Given the description of an element on the screen output the (x, y) to click on. 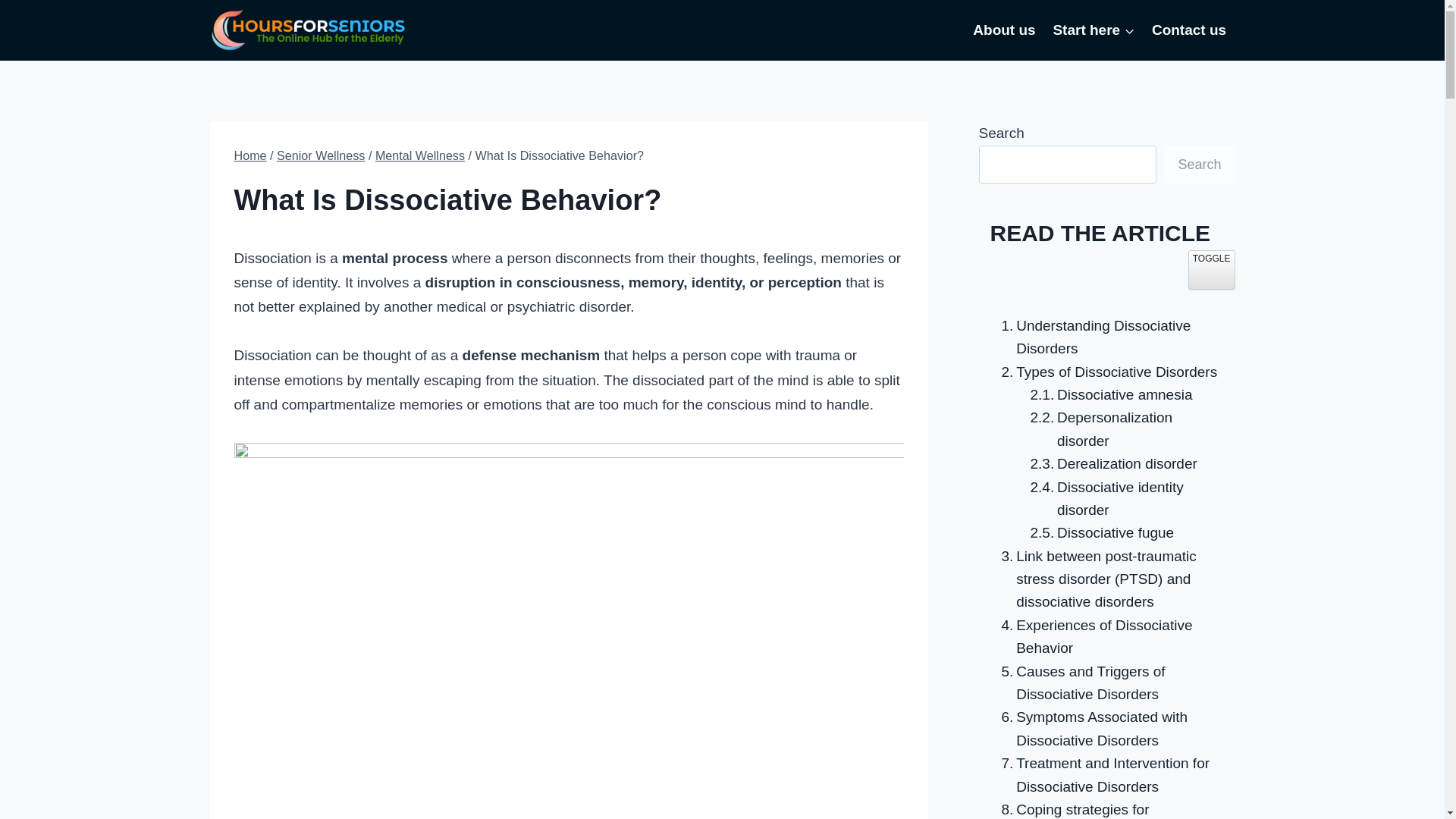
Understanding Dissociative Disorders (1106, 337)
Causes and Triggers of Dissociative Disorders (1106, 683)
About us (1003, 30)
Symptoms Associated with Dissociative Disorders (1106, 728)
Types of Dissociative Disorders (1104, 372)
Contact us (1188, 30)
Home (249, 155)
Start here (1092, 30)
Dissociative fugue (1097, 532)
Dissociative amnesia (1107, 395)
